Given the description of an element on the screen output the (x, y) to click on. 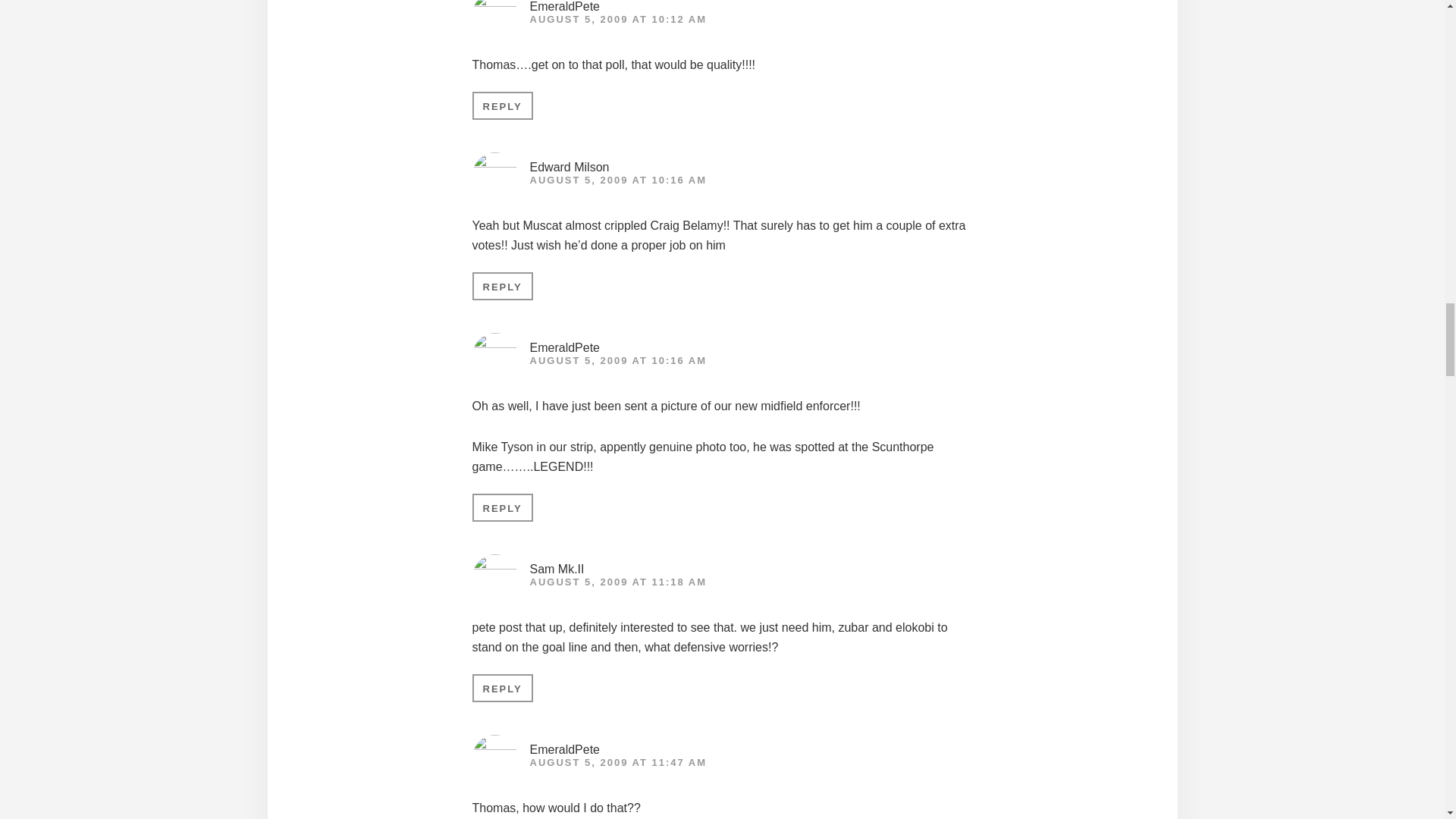
REPLY (501, 507)
REPLY (501, 285)
AUGUST 5, 2009 AT 10:12 AM (617, 19)
AUGUST 5, 2009 AT 10:16 AM (617, 179)
REPLY (501, 687)
AUGUST 5, 2009 AT 10:16 AM (617, 360)
AUGUST 5, 2009 AT 11:47 AM (617, 762)
AUGUST 5, 2009 AT 11:18 AM (617, 582)
REPLY (501, 105)
